Given the description of an element on the screen output the (x, y) to click on. 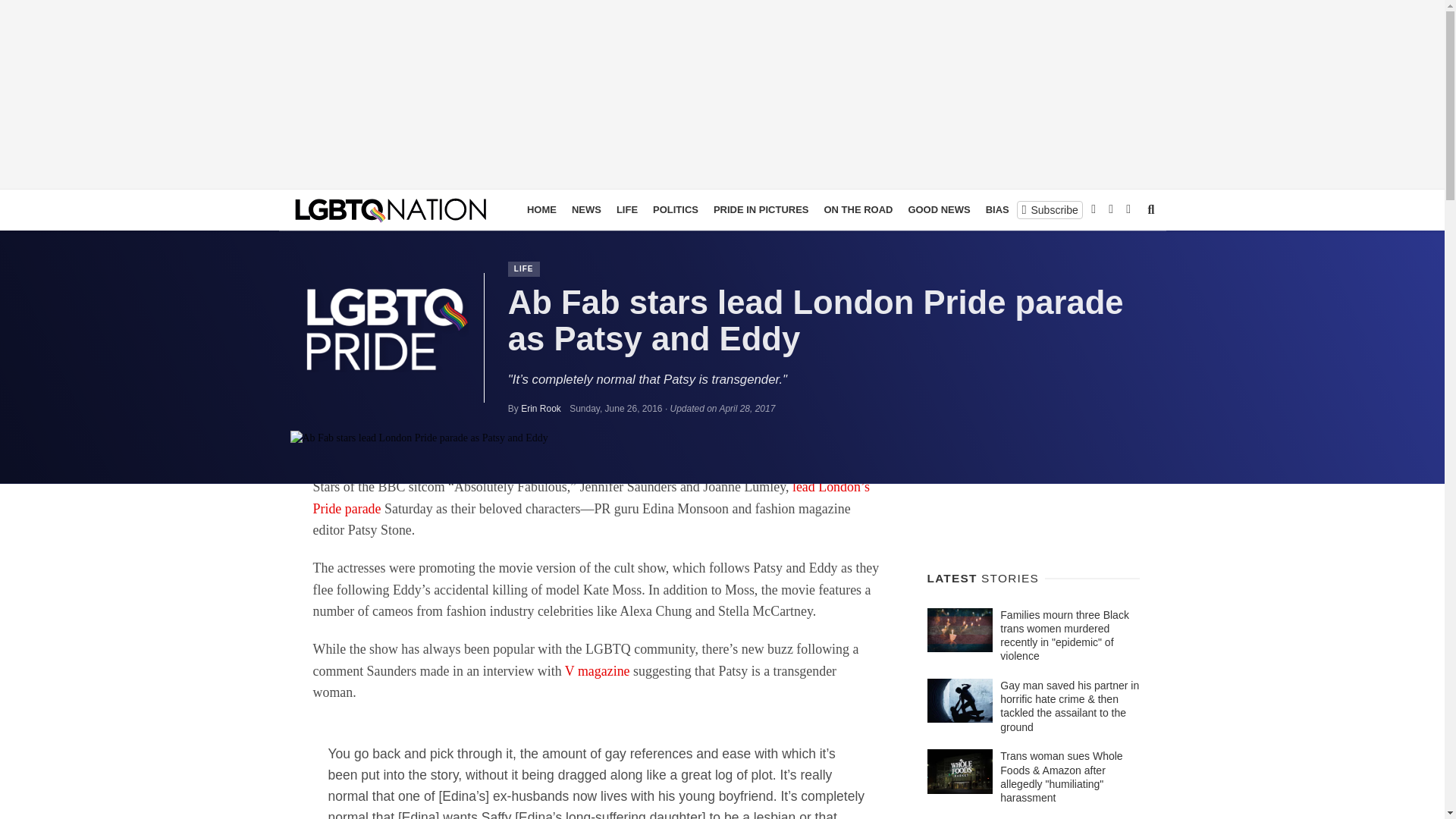
GOOD NEWS (937, 209)
COMMENTARY (1097, 209)
ON THE ROAD (857, 209)
Subscribe (1049, 209)
NEWS (586, 209)
HOME (541, 209)
LIFE (626, 209)
PRIDE IN PICTURES (761, 209)
LIFE (524, 268)
POLITICS (675, 209)
BIAS WATCH (1016, 209)
Sunday, June 26, 2016 pm30 14:00:17 (615, 408)
Erin Rook (540, 408)
Posts by Erin Rook (540, 408)
V magazine (597, 670)
